Given the description of an element on the screen output the (x, y) to click on. 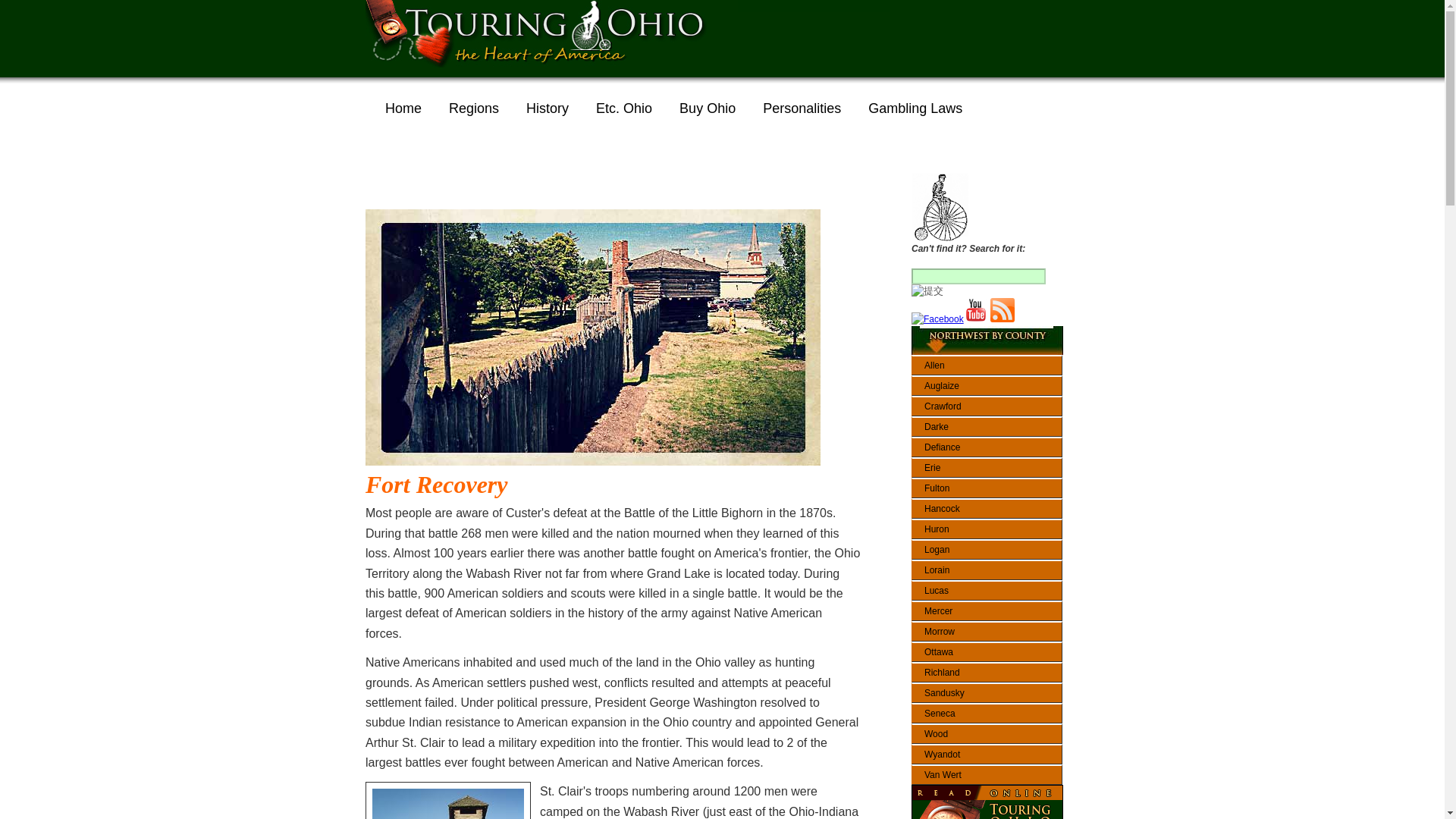
Home (403, 108)
Etc. Ohio (623, 108)
History (547, 108)
Regions (473, 108)
